Given the description of an element on the screen output the (x, y) to click on. 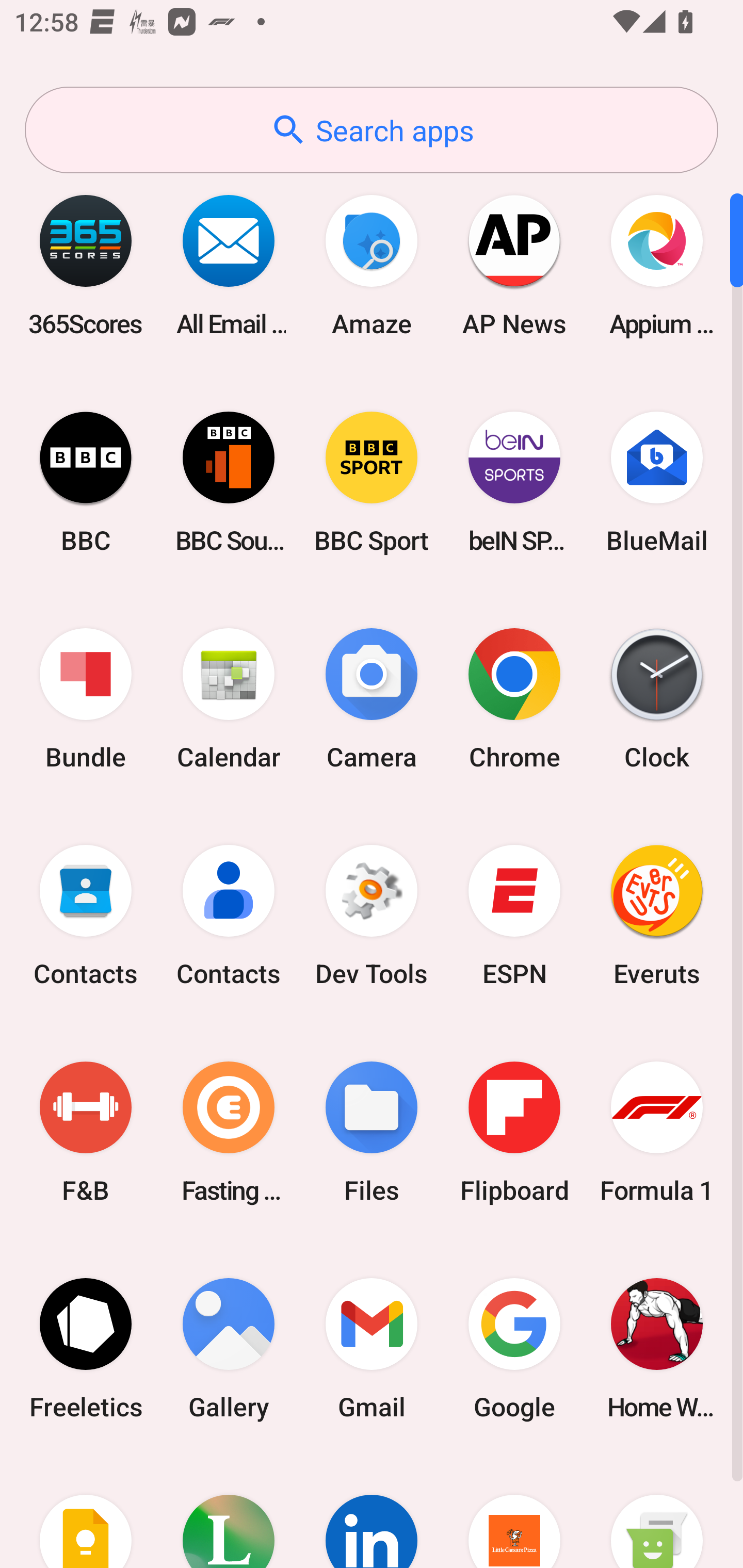
  Search apps (371, 130)
365Scores (85, 264)
All Email Connect (228, 264)
Amaze (371, 264)
AP News (514, 264)
Appium Settings (656, 264)
BBC (85, 482)
BBC Sounds (228, 482)
BBC Sport (371, 482)
beIN SPORTS (514, 482)
BlueMail (656, 482)
Bundle (85, 699)
Calendar (228, 699)
Camera (371, 699)
Chrome (514, 699)
Clock (656, 699)
Contacts (85, 915)
Contacts (228, 915)
Dev Tools (371, 915)
ESPN (514, 915)
Everuts (656, 915)
F&B (85, 1131)
Fasting Coach (228, 1131)
Files (371, 1131)
Flipboard (514, 1131)
Formula 1 (656, 1131)
Freeletics (85, 1348)
Gallery (228, 1348)
Gmail (371, 1348)
Google (514, 1348)
Home Workout (656, 1348)
